Given the description of an element on the screen output the (x, y) to click on. 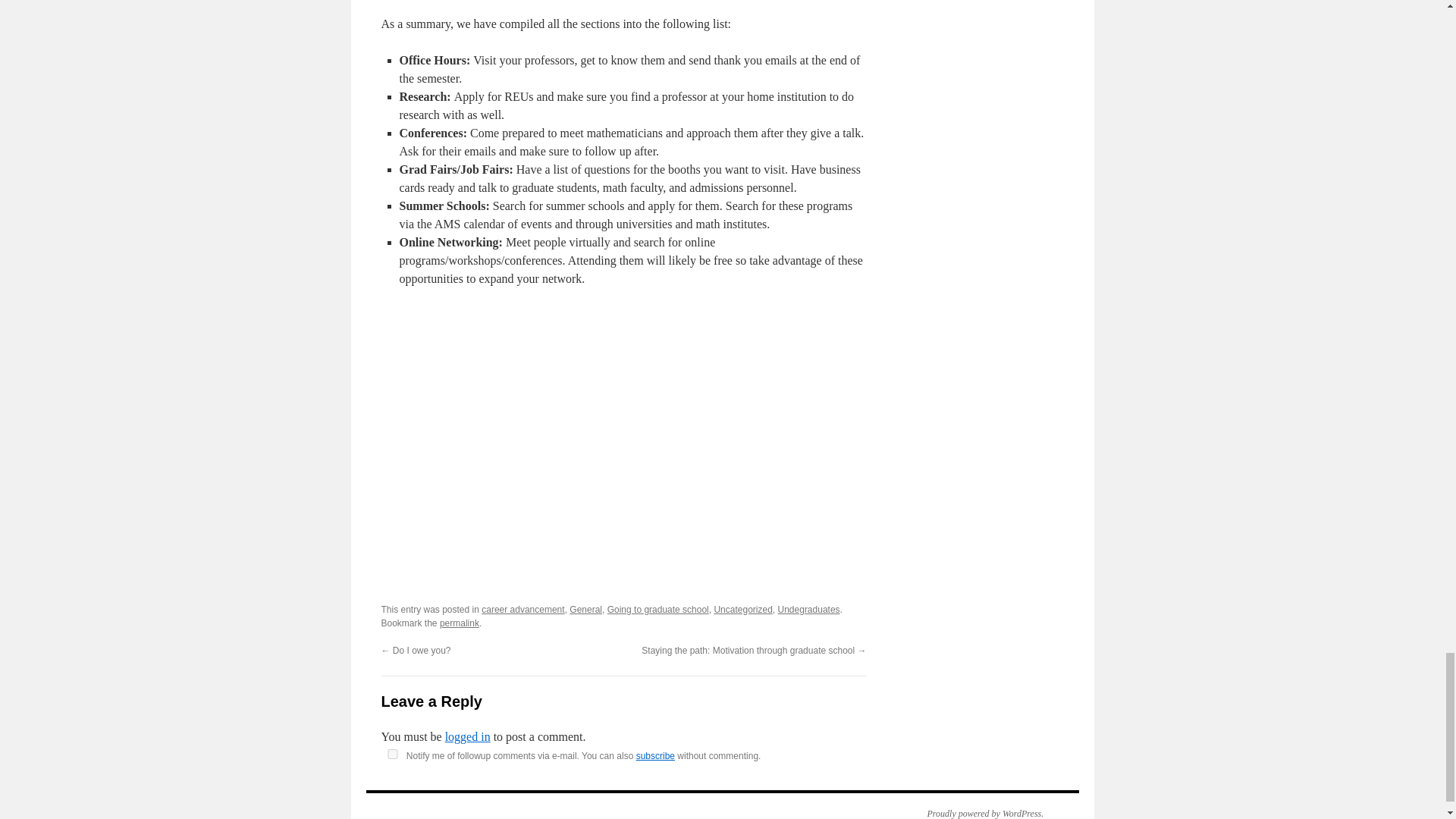
logged in (467, 736)
Going to graduate school (658, 609)
General (585, 609)
permalink (459, 623)
Uncategorized (742, 609)
yes (391, 754)
Permalink to Networking Basics for Math Undergrads (459, 623)
subscribe (655, 756)
career advancement (522, 609)
Undegraduates (808, 609)
